Given the description of an element on the screen output the (x, y) to click on. 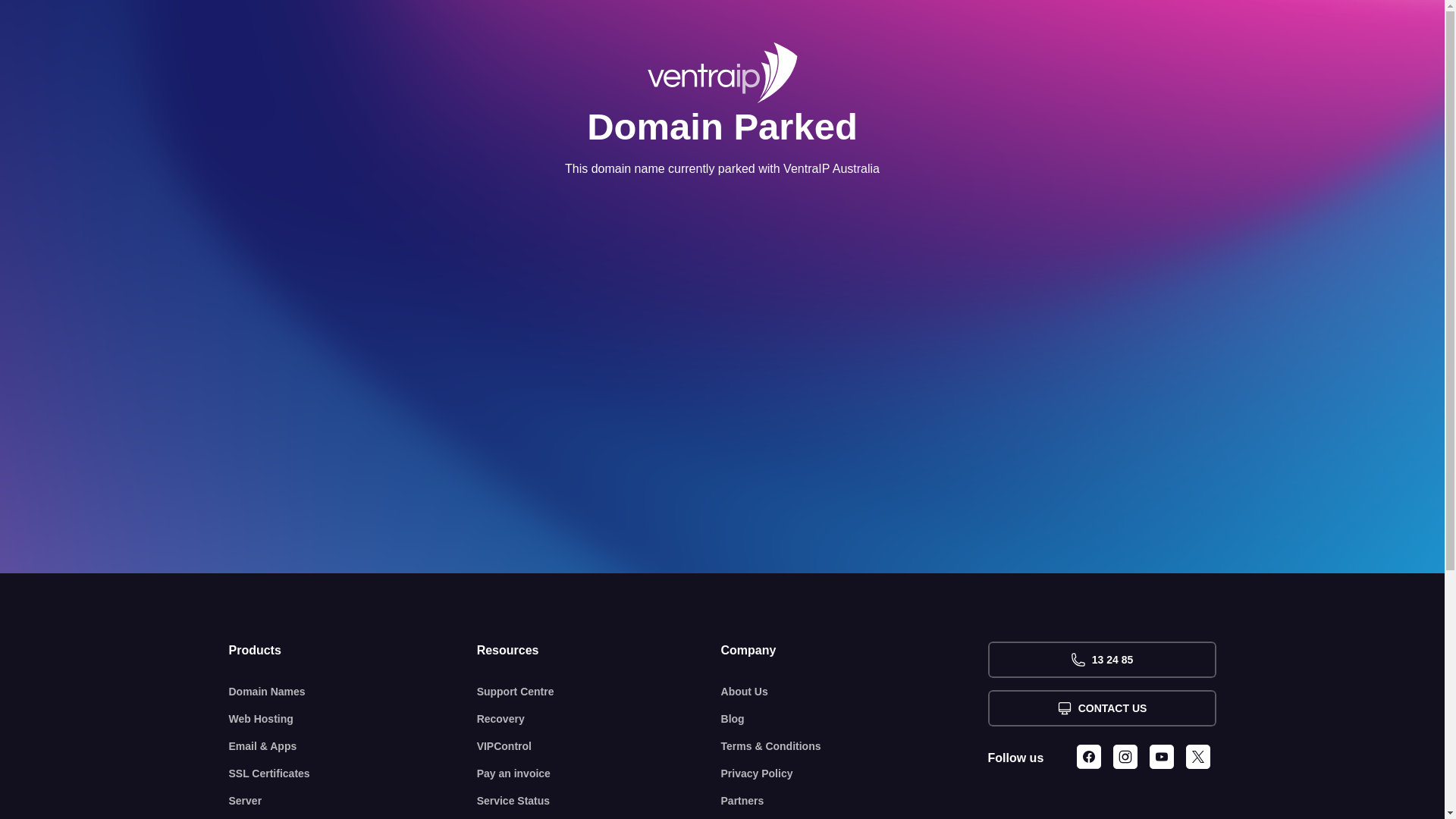
Service Status Element type: text (598, 800)
Email & Apps Element type: text (352, 745)
Terms & Conditions Element type: text (854, 745)
Blog Element type: text (854, 718)
Partners Element type: text (854, 800)
Pay an invoice Element type: text (598, 773)
Recovery Element type: text (598, 718)
13 24 85 Element type: text (1101, 659)
Privacy Policy Element type: text (854, 773)
Support Centre Element type: text (598, 691)
Web Hosting Element type: text (352, 718)
CONTACT US Element type: text (1101, 708)
Domain Names Element type: text (352, 691)
VIPControl Element type: text (598, 745)
About Us Element type: text (854, 691)
SSL Certificates Element type: text (352, 773)
Server Element type: text (352, 800)
